Given the description of an element on the screen output the (x, y) to click on. 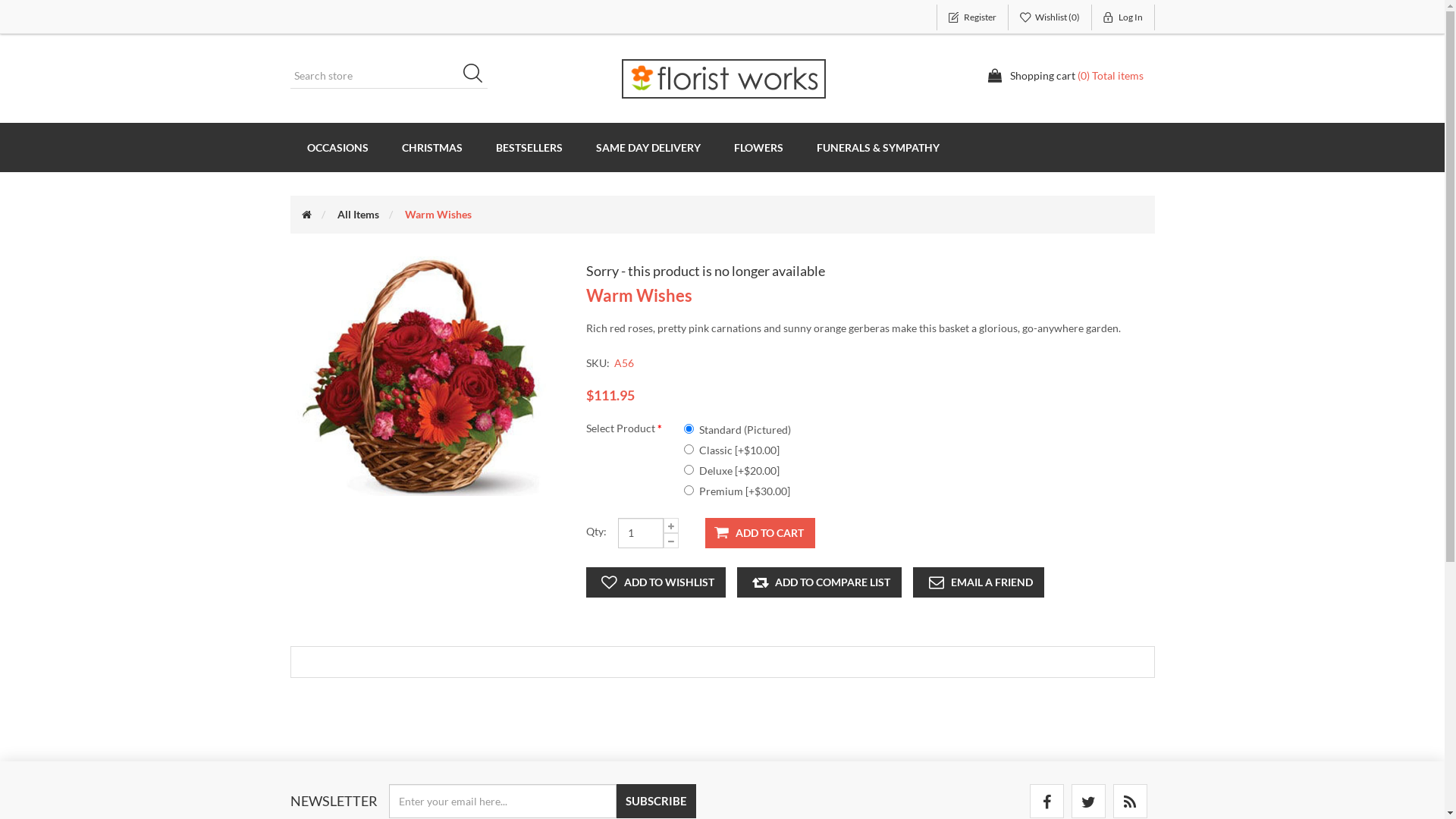
Wishlist (0) Element type: text (1050, 17)
Email a friend Element type: text (978, 582)
OCCASIONS Element type: text (336, 147)
FUNERALS & SYMPATHY Element type: text (877, 147)
Add to compare list Element type: text (819, 582)
SAME DAY DELIVERY Element type: text (648, 147)
Register Element type: text (971, 17)
Add to wishlist Element type: text (654, 582)
Shopping cart (0) Total items Element type: text (1065, 75)
Picture of Warm Wishes Element type: hover (425, 375)
Log In Element type: text (1123, 17)
BESTSELLERS Element type: text (529, 147)
All Items Element type: text (357, 213)
Add to cart Element type: text (760, 532)
FLOWERS Element type: text (758, 147)
CHRISTMAS Element type: text (432, 147)
